Given the description of an element on the screen output the (x, y) to click on. 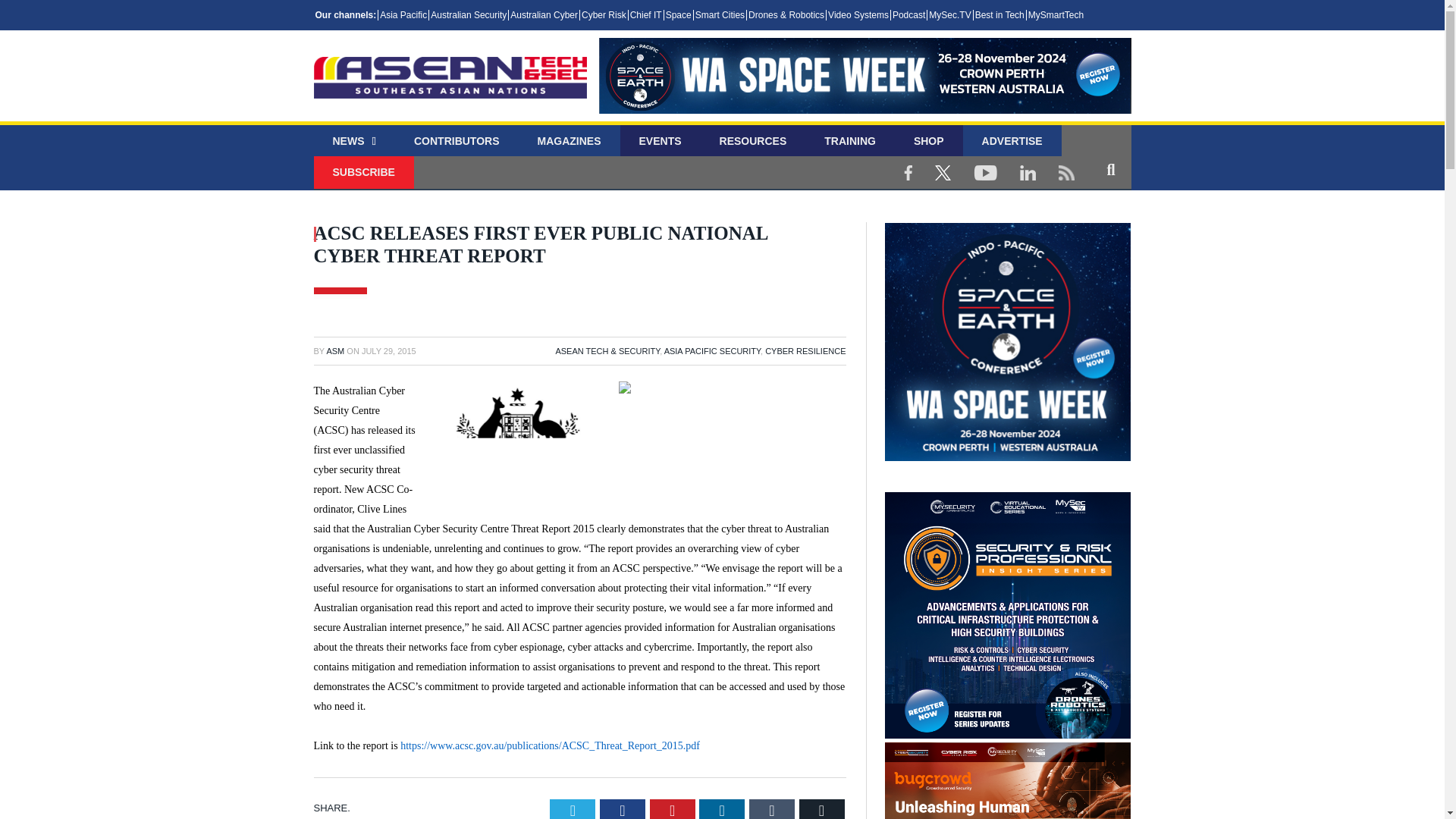
MySmartTech (1055, 14)
Indo-Pacific Space and Earth Conference (864, 88)
TRAINING (850, 141)
Chief IT (645, 14)
Space (678, 14)
Search (1110, 168)
Asia Pacific (402, 14)
RESOURCES (753, 141)
Australian Cyber (543, 14)
Podcast (907, 14)
